Given the description of an element on the screen output the (x, y) to click on. 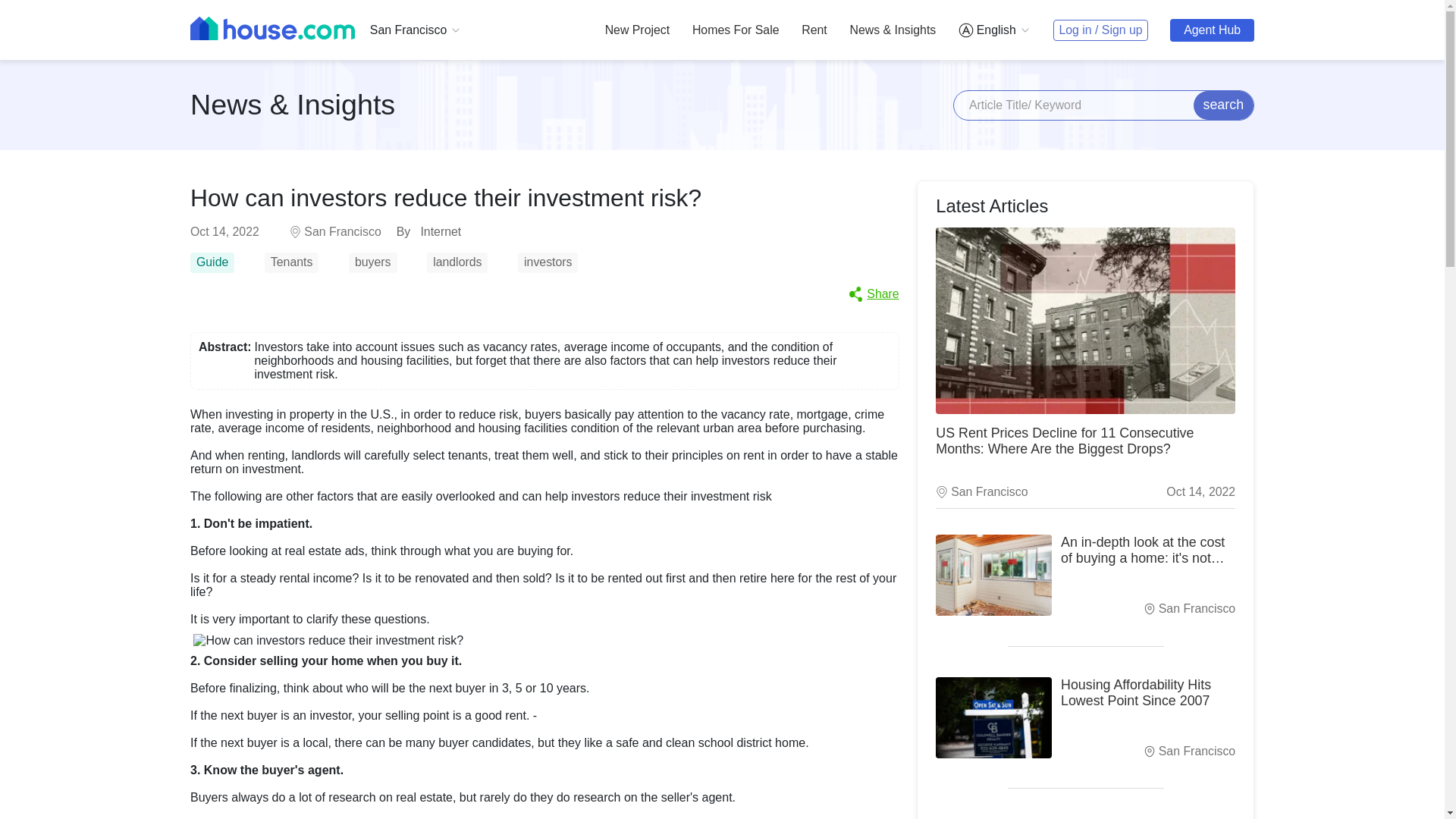
How can investors reduce their investment risk? (295, 232)
Homes For Sale (735, 29)
New Project (637, 29)
Rent (814, 29)
Housing Affordability Hits Lowest Point Since 2007 (993, 716)
Agent Hub (1211, 29)
